Given the description of an element on the screen output the (x, y) to click on. 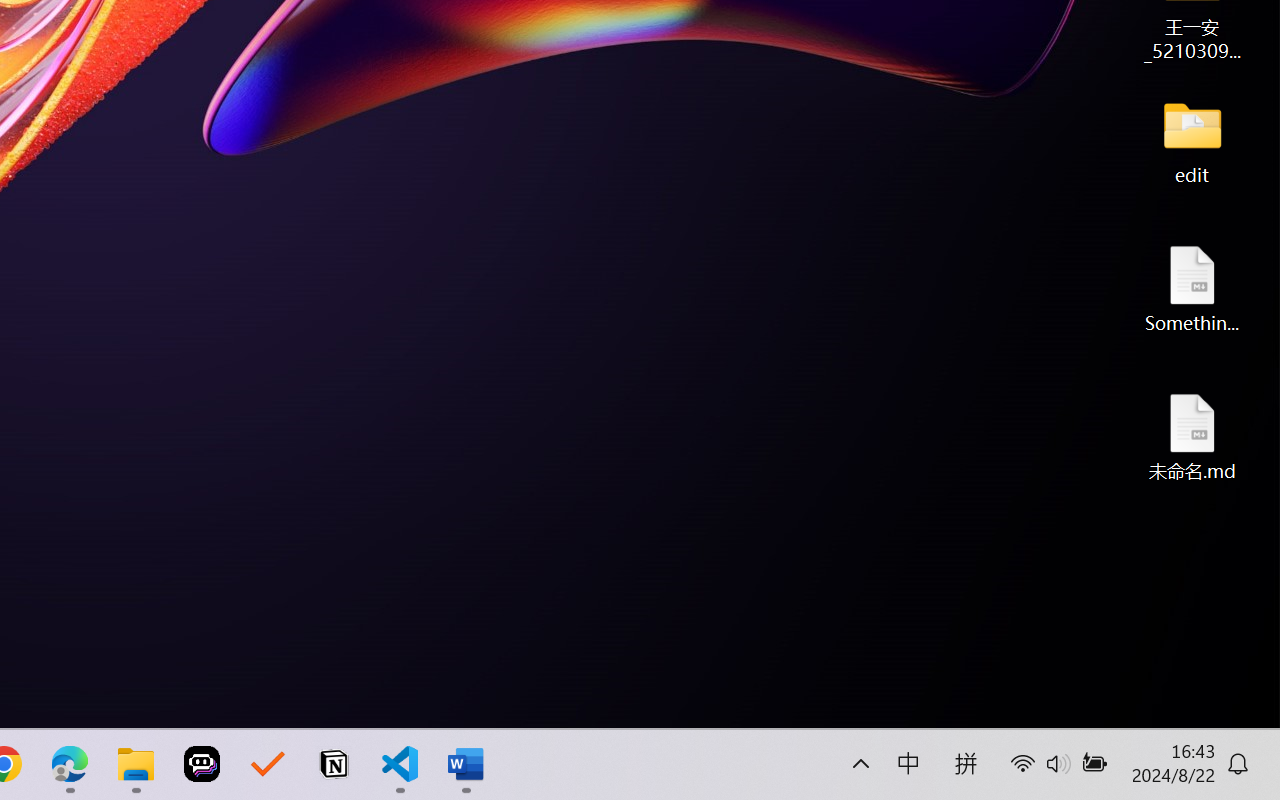
Something.md (1192, 288)
